Given the description of an element on the screen output the (x, y) to click on. 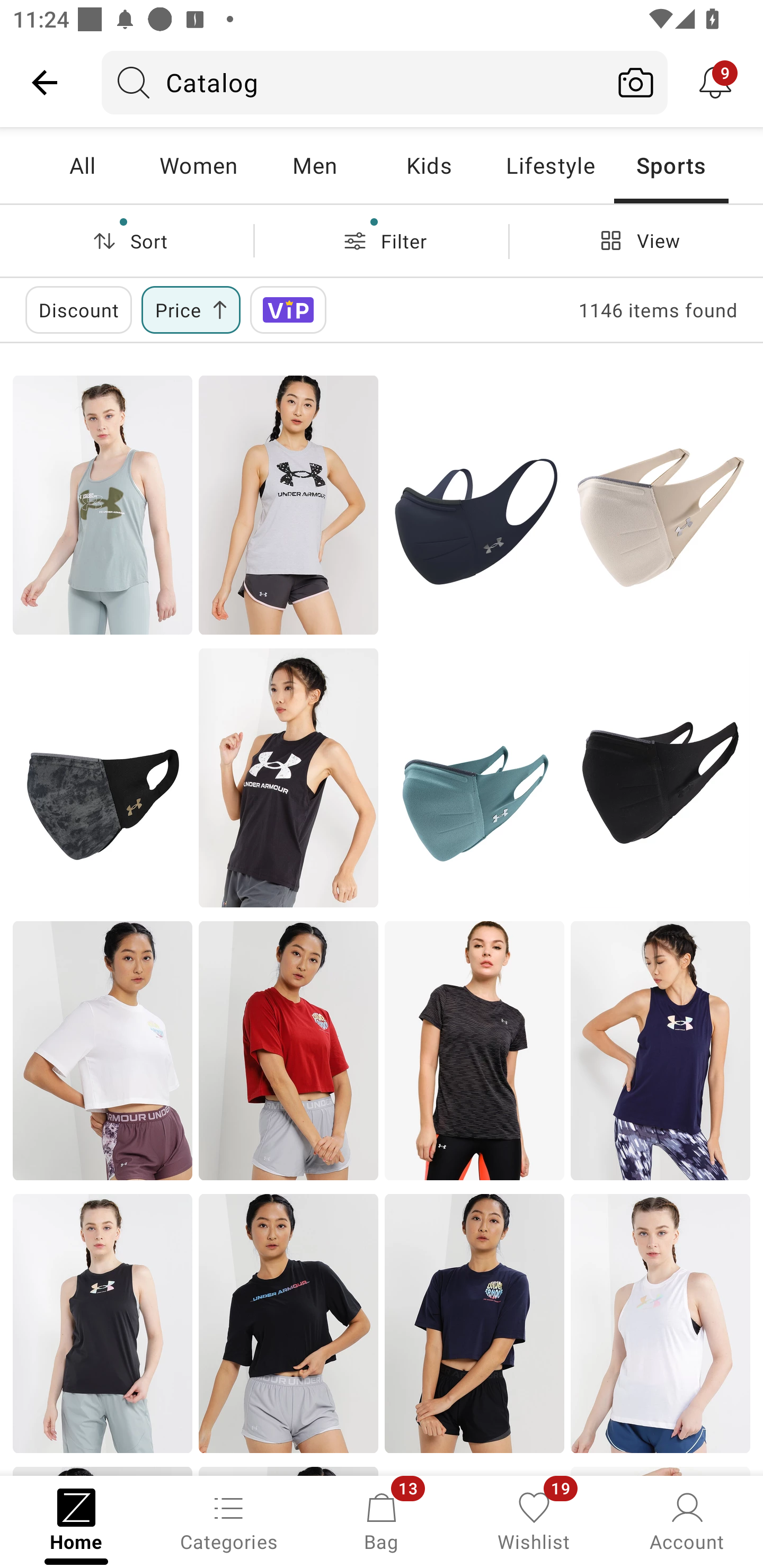
Navigate up (44, 82)
Catalog (352, 82)
All (82, 165)
Women (198, 165)
Men (314, 165)
Kids (428, 165)
Lifestyle (550, 165)
Sort (126, 240)
Filter (381, 240)
View (636, 240)
Discount (78, 309)
Price (190, 309)
Categories (228, 1519)
Bag, 13 new notifications Bag (381, 1519)
Wishlist, 19 new notifications Wishlist (533, 1519)
Account (686, 1519)
